Given the description of an element on the screen output the (x, y) to click on. 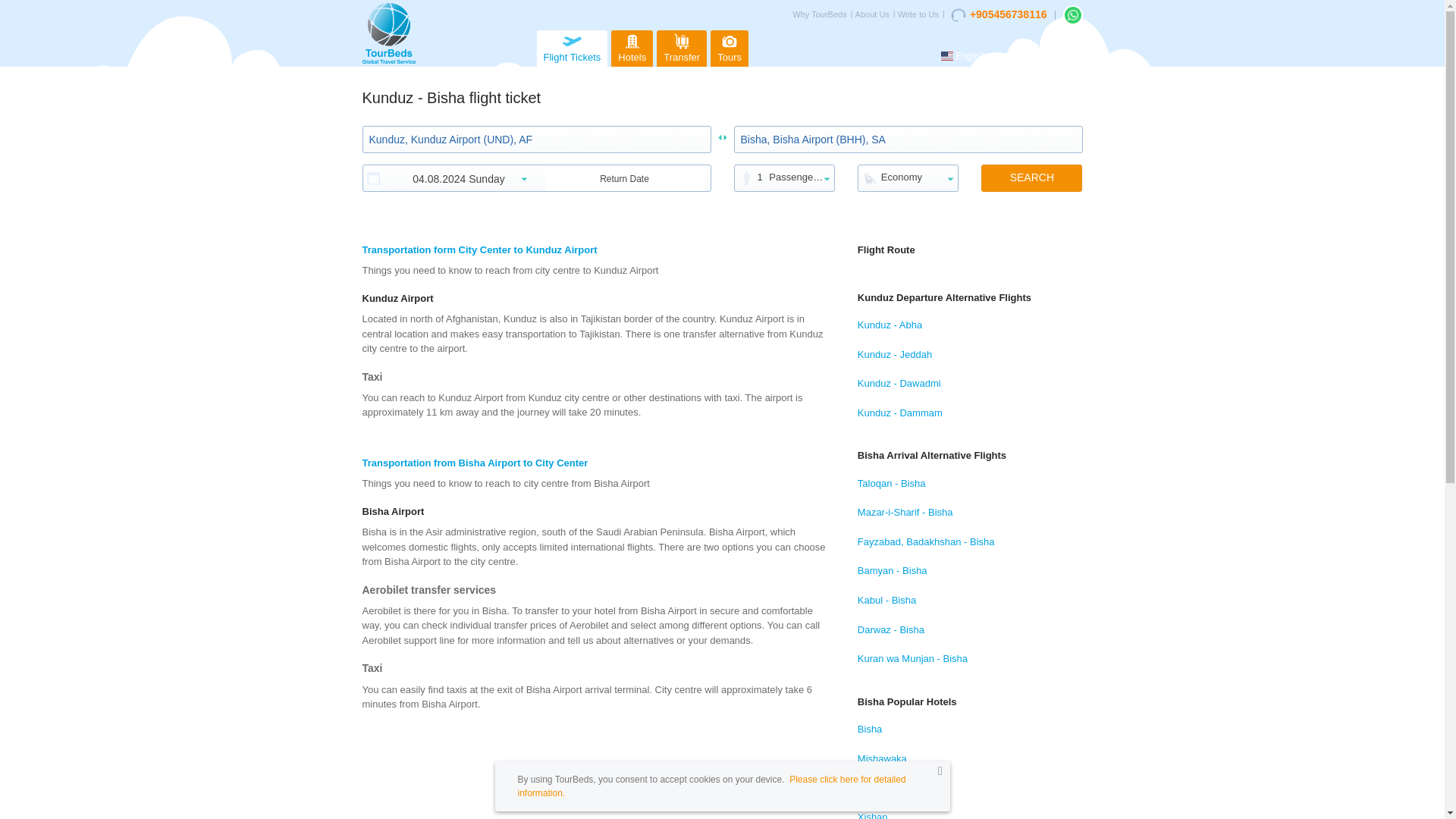
Hotels (631, 48)
Tours (729, 48)
SEARCH (1031, 177)
Flight Tickets (572, 48)
Transfer (681, 48)
Why TourBeds (821, 14)
Kunduz - Abha (970, 325)
Hotels (631, 48)
Flight Tickets (572, 48)
Transfer (681, 48)
Call Center (998, 15)
Sign In (1063, 56)
Tours (729, 48)
Please click here for detailed information. (710, 785)
